Given the description of an element on the screen output the (x, y) to click on. 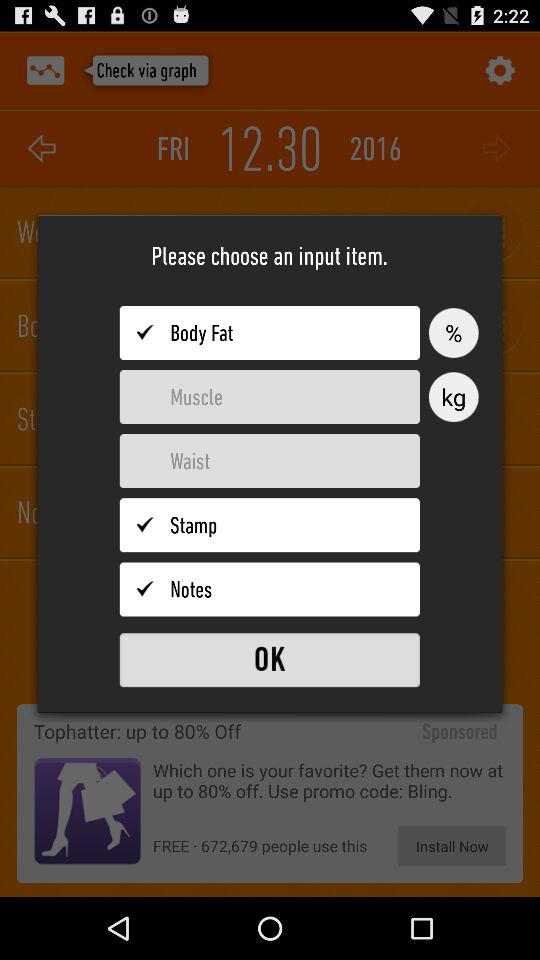
open the % item (453, 332)
